Given the description of an element on the screen output the (x, y) to click on. 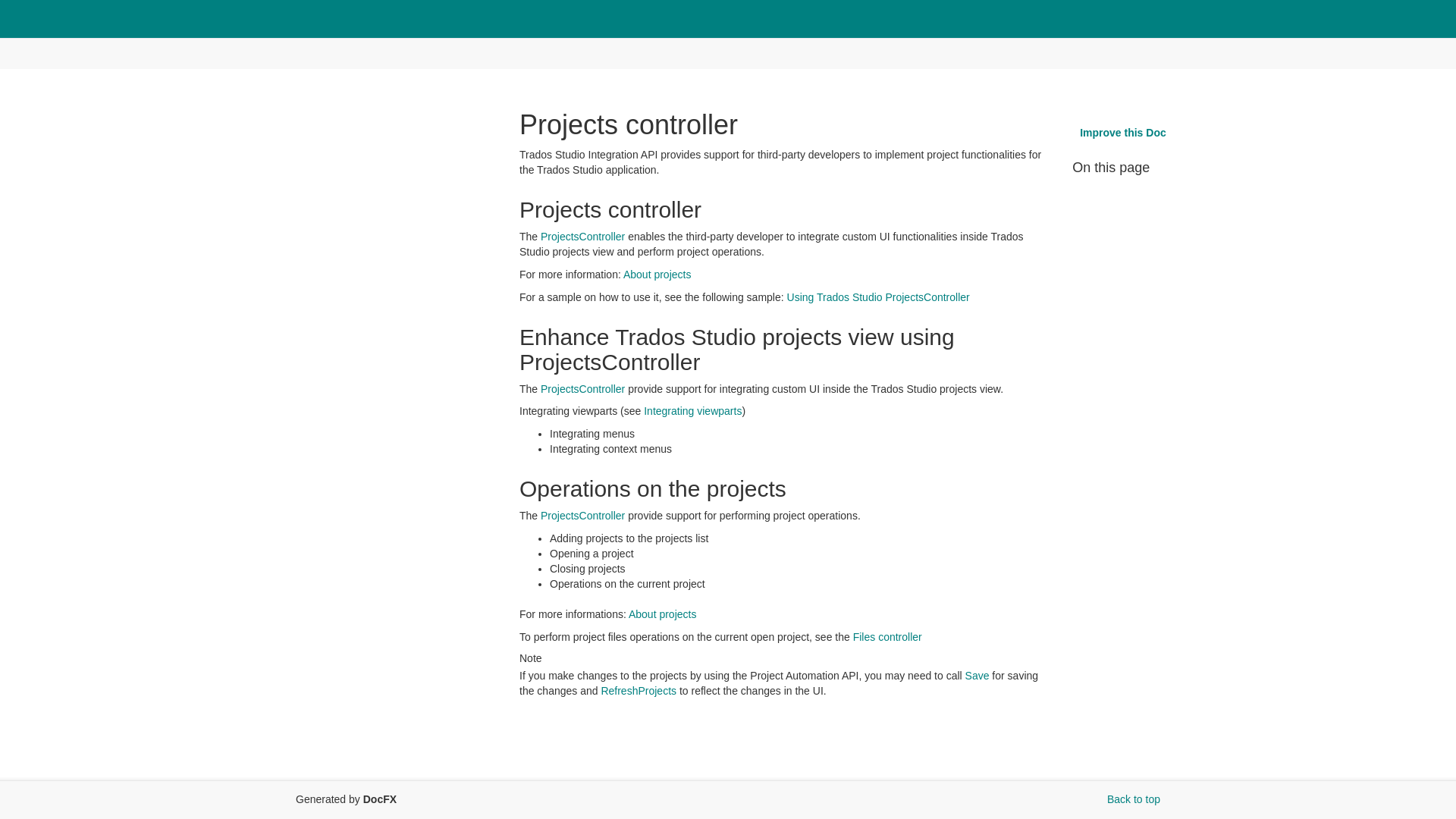
Files controller (887, 636)
Improve this Doc (1122, 133)
Save (977, 675)
Using Trados Studio ProjectsController (878, 297)
ProjectsController (582, 387)
About projects (662, 613)
Back to top (1133, 799)
Integrating viewparts (692, 410)
ProjectsController (582, 236)
RefreshProjects (638, 690)
